Given the description of an element on the screen output the (x, y) to click on. 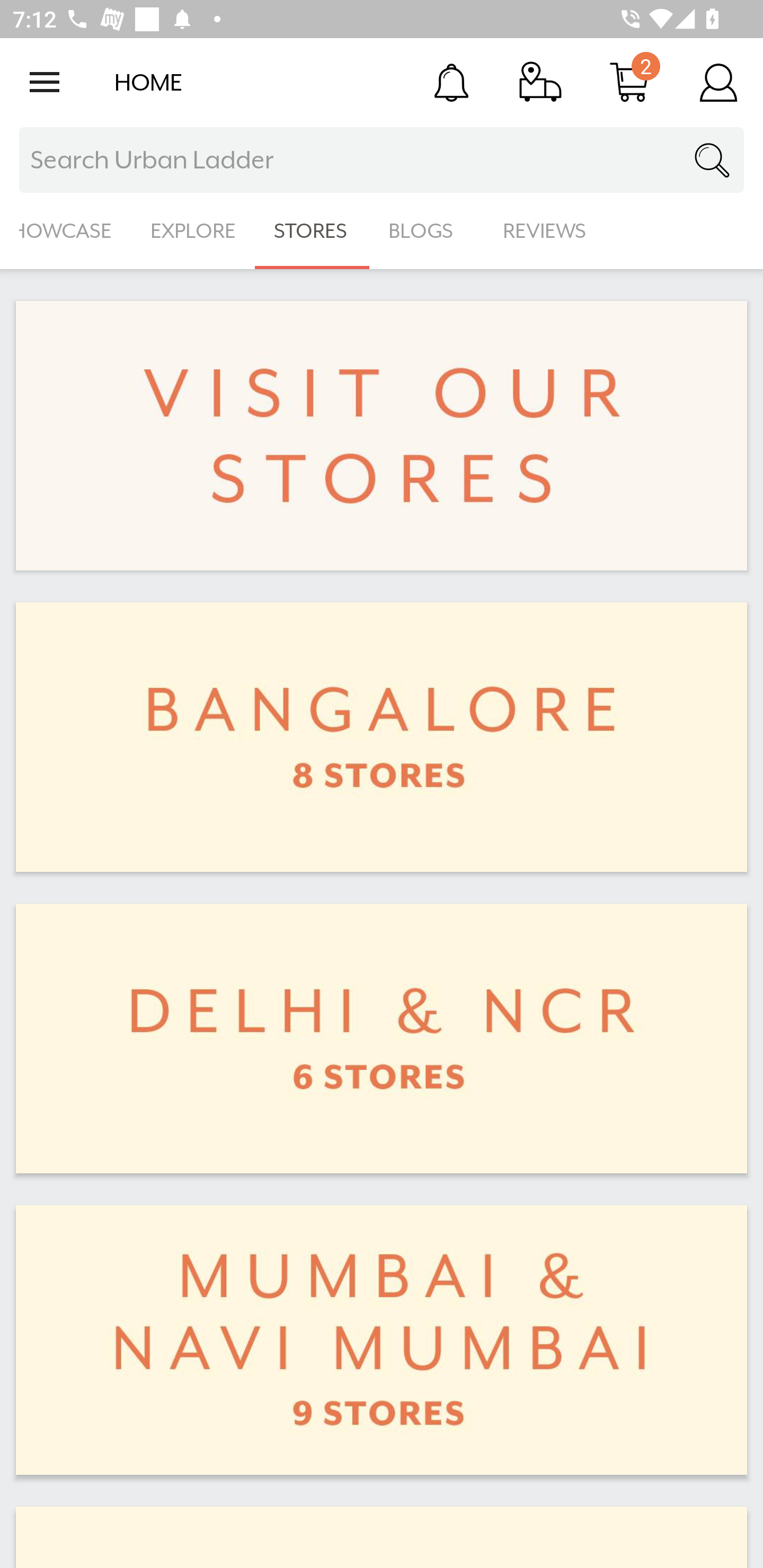
Open navigation drawer (44, 82)
Notification (450, 81)
Track Order (540, 81)
Cart (629, 81)
Account Details (718, 81)
Search Urban Ladder  (381, 159)
SHOWCASE (65, 230)
EXPLORE (192, 230)
STORES (311, 230)
BLOGS (426, 230)
REVIEWS (544, 230)
